Given the description of an element on the screen output the (x, y) to click on. 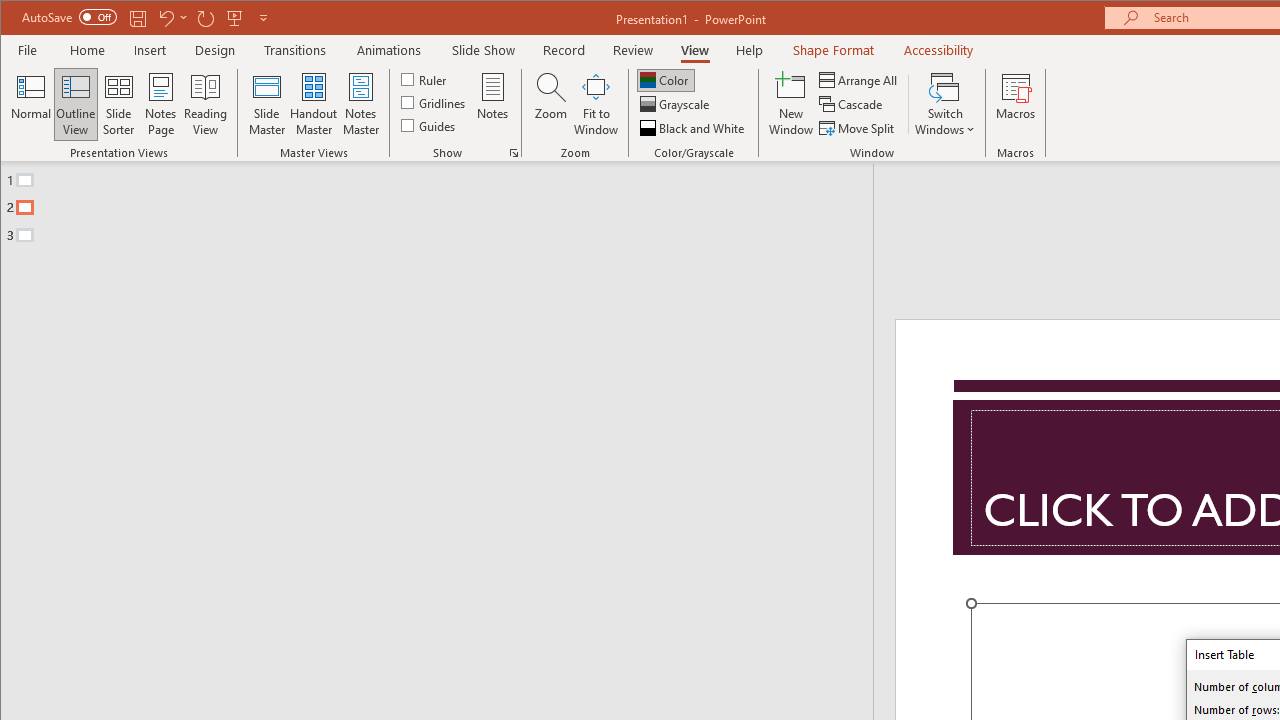
Grid Settings... (513, 152)
Cascade (852, 103)
Color (666, 80)
Fit to Window (596, 104)
